Given the description of an element on the screen output the (x, y) to click on. 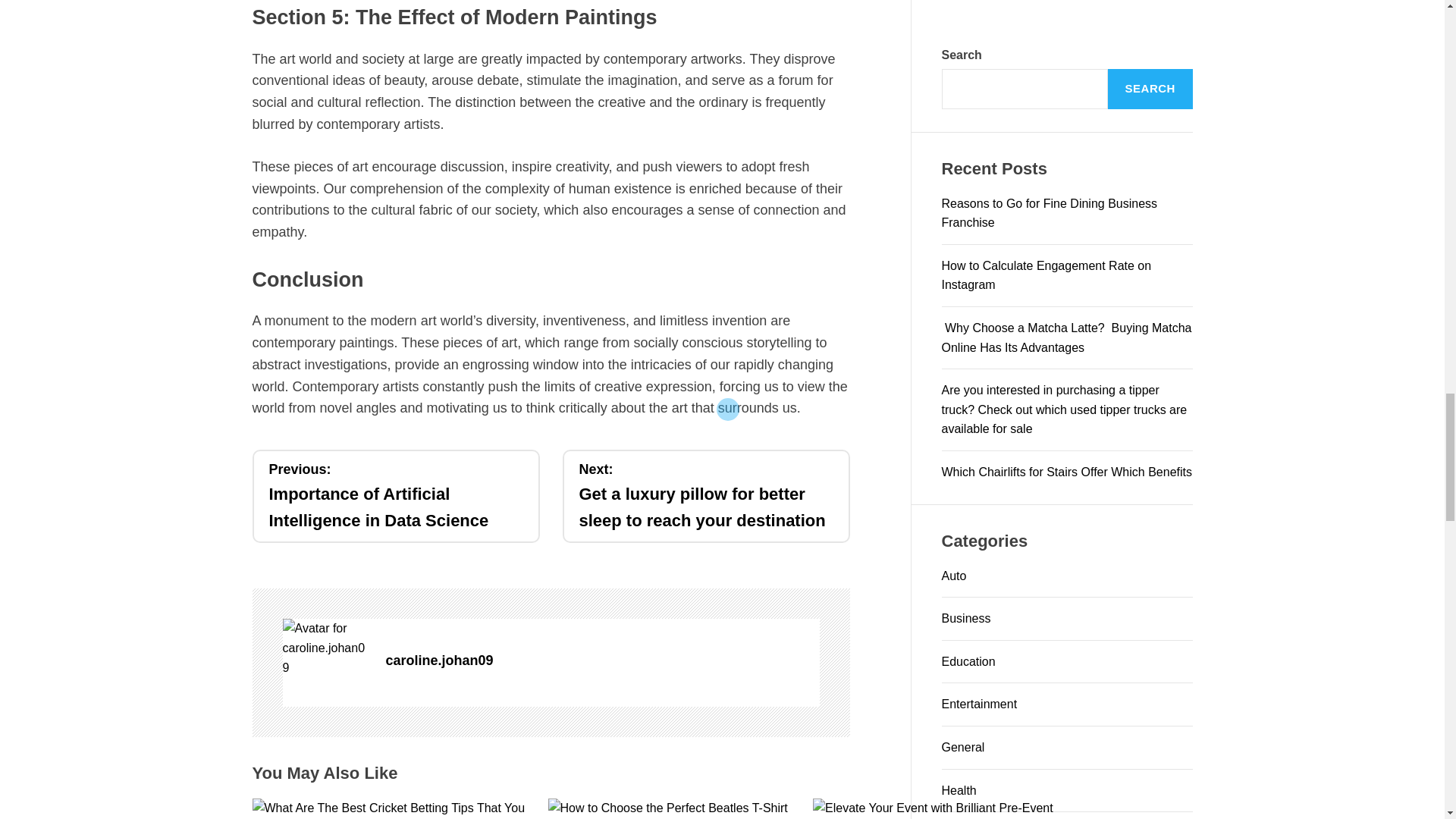
caroline.johan09 (325, 648)
caroline.johan09 (601, 660)
caroline.johan09 (601, 660)
